Given the description of an element on the screen output the (x, y) to click on. 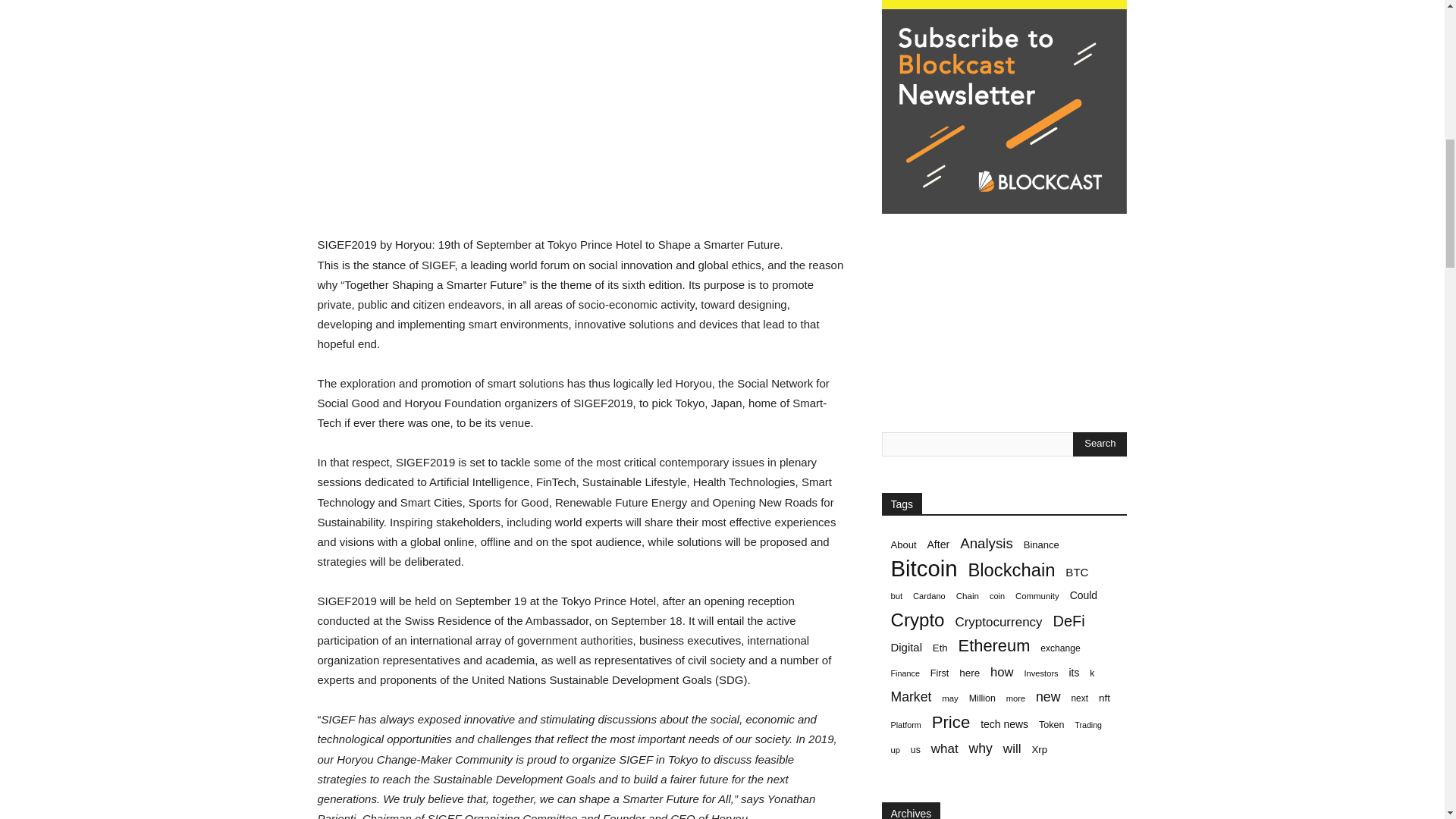
Search (1099, 444)
